Given the description of an element on the screen output the (x, y) to click on. 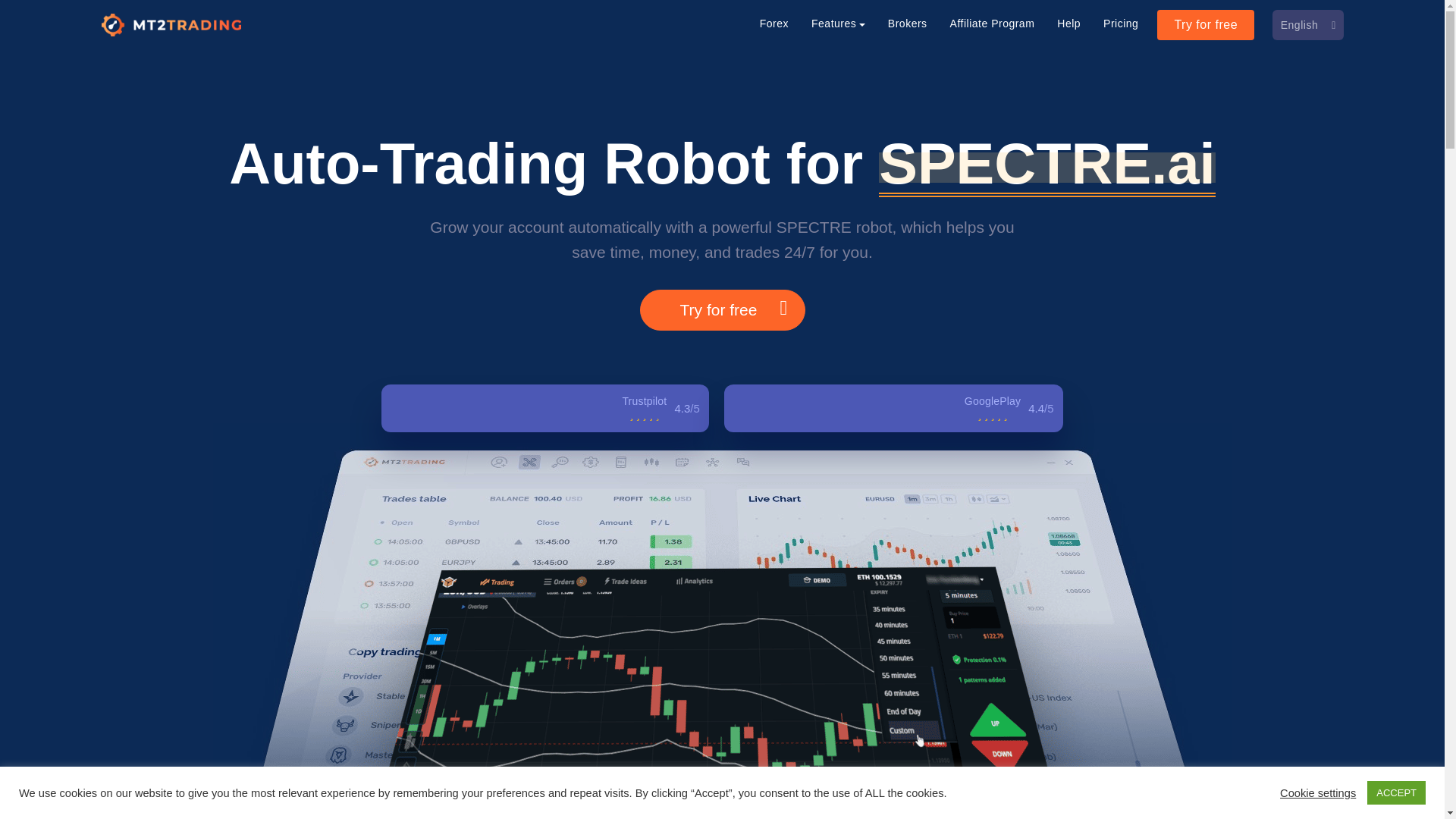
Pricing (1121, 22)
Try for free (1206, 24)
Try for free (1206, 24)
Brokers (907, 22)
Help (1068, 22)
Features (837, 22)
Pricing (1121, 22)
Help (1068, 22)
Affiliate Program (992, 22)
Forex (773, 22)
Brokers (907, 22)
Forex (773, 22)
Features (837, 22)
Affiliate Program (992, 22)
English (1307, 25)
